Given the description of an element on the screen output the (x, y) to click on. 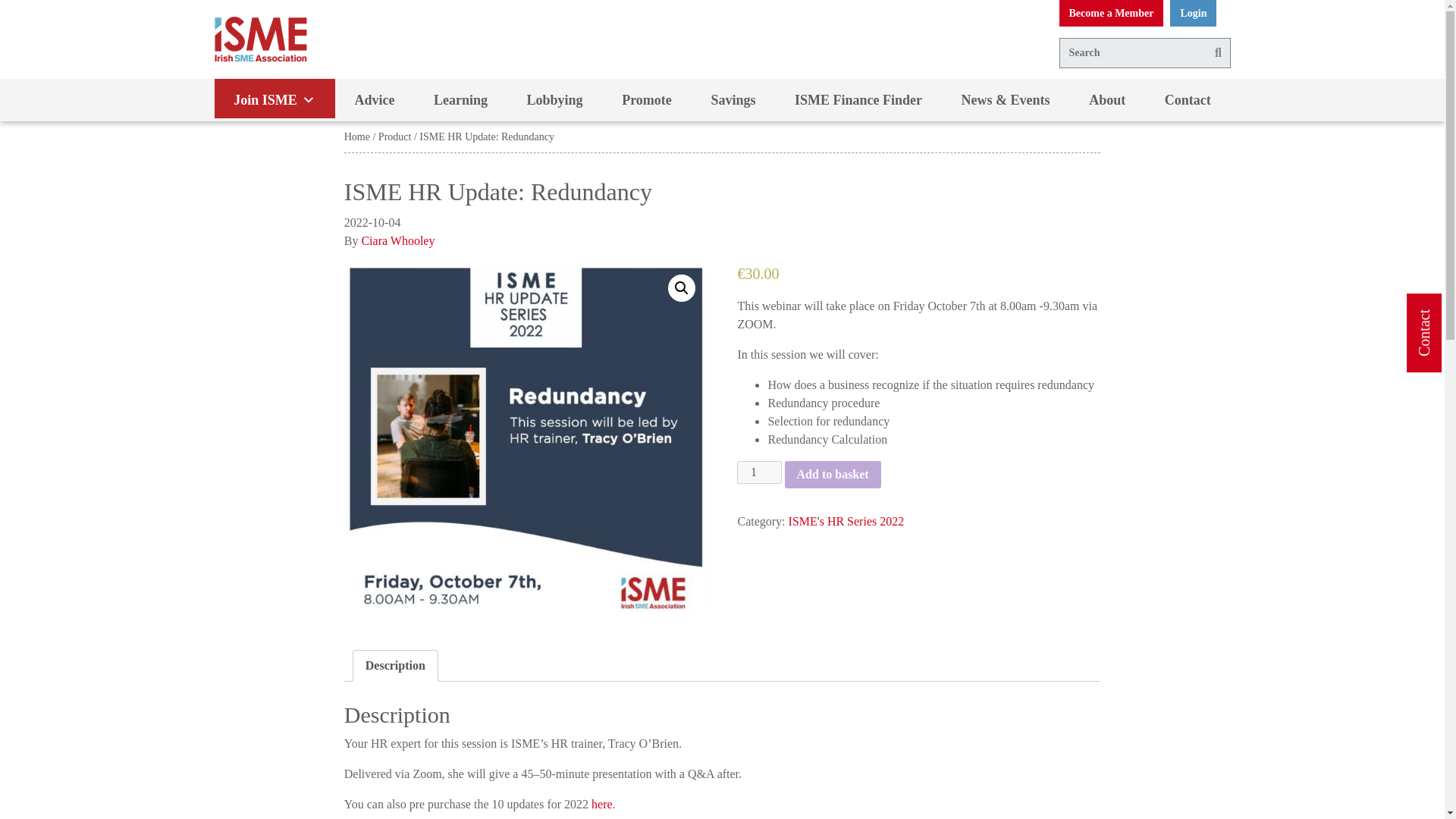
Login (1192, 13)
Savings (733, 99)
Advice (374, 99)
About (1106, 99)
Promote (646, 99)
Friday-oct-7 (525, 443)
1 (758, 472)
ISME Finance Finder (858, 99)
Lobbying (554, 99)
Become a Member (1110, 13)
